Given the description of an element on the screen output the (x, y) to click on. 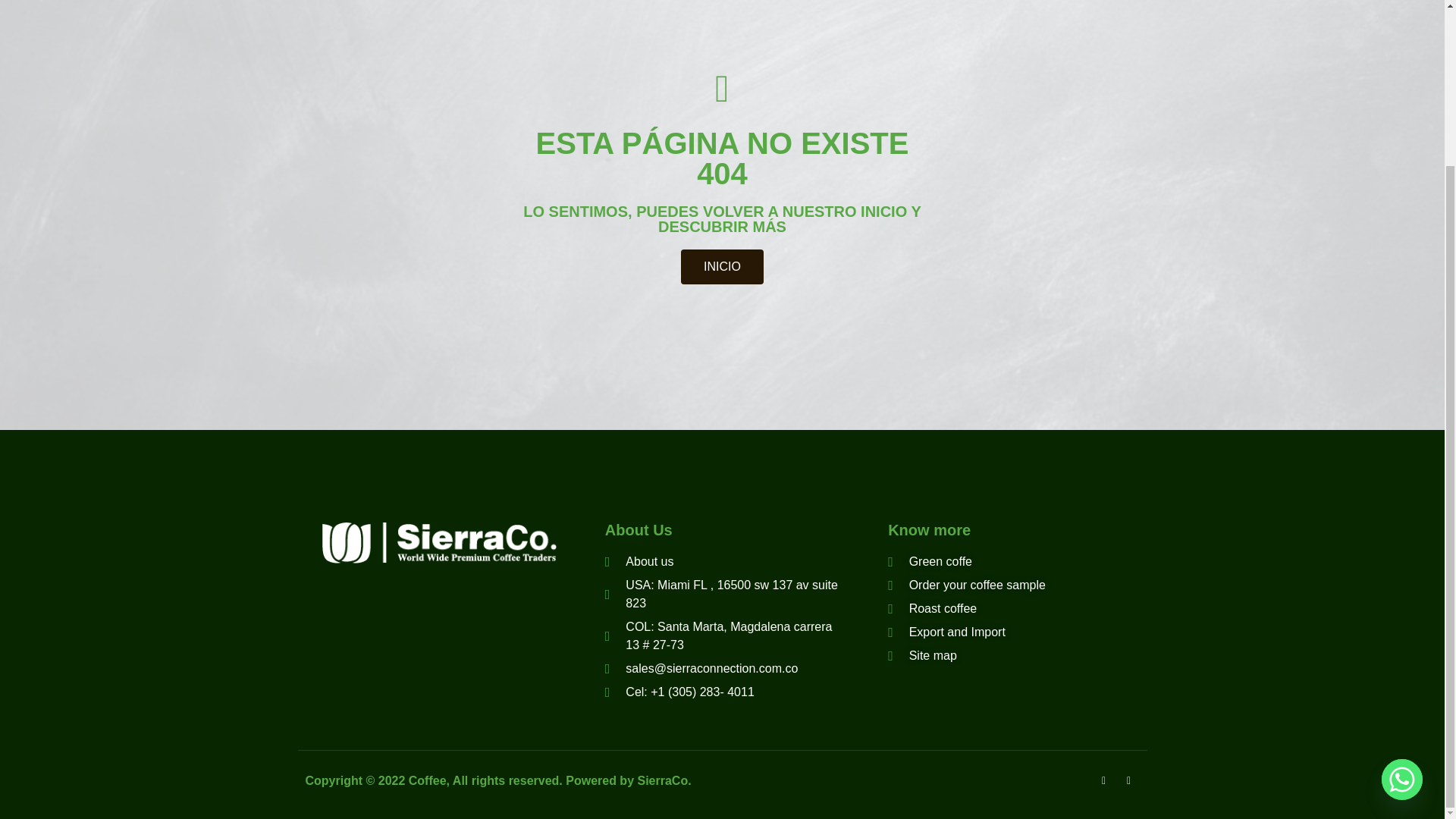
About us (722, 561)
logobig3 (438, 542)
Green coffe (930, 561)
Roast coffee (932, 608)
Order your coffee sample (966, 585)
INICIO (722, 265)
Site map (922, 656)
Export and Import (947, 632)
